Given the description of an element on the screen output the (x, y) to click on. 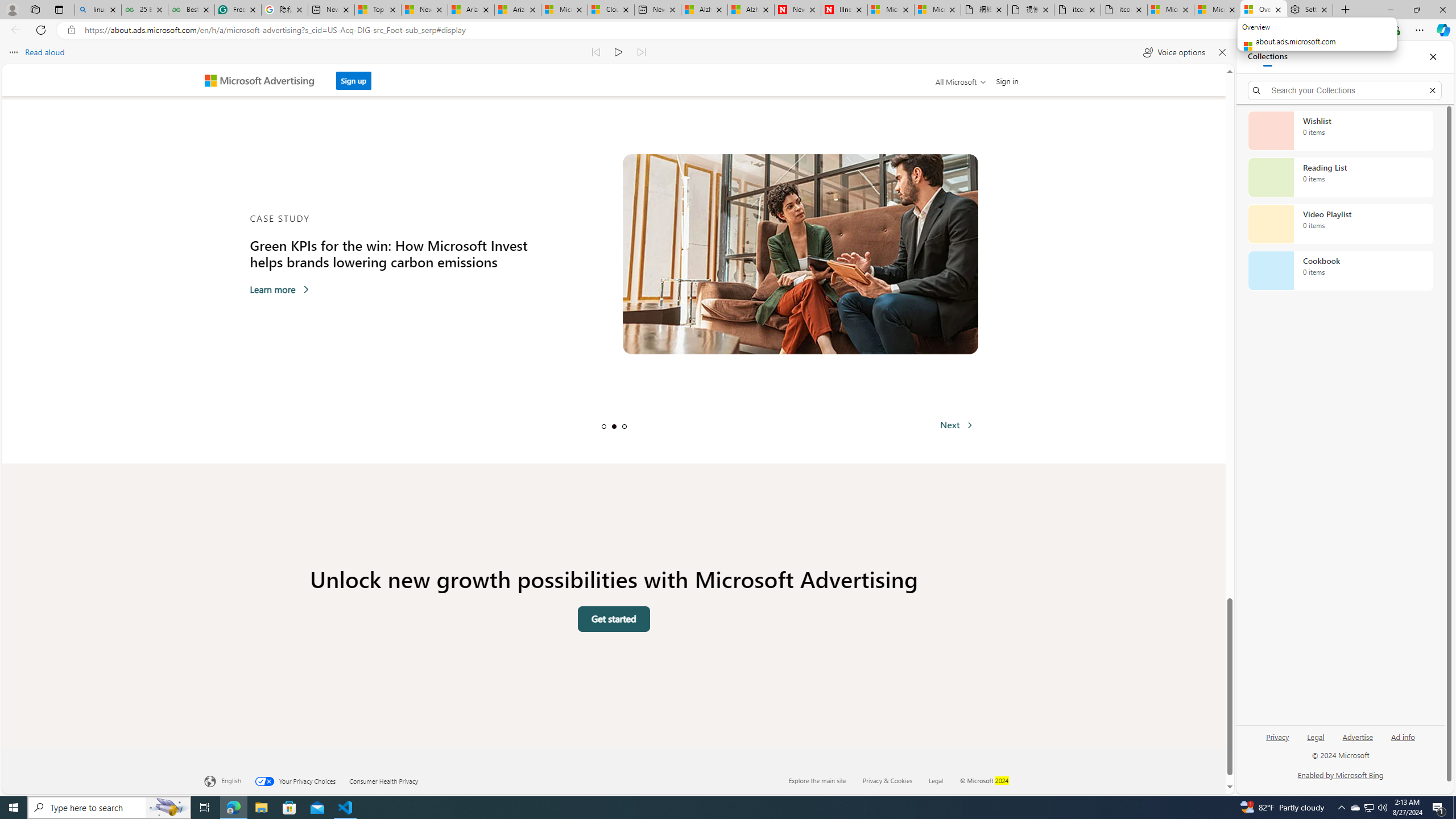
Top Stories - MSN (377, 9)
Slide 1 (603, 426)
Sign up (352, 81)
Sign up (353, 76)
Best SSL Certificates Provider in India - GeeksforGeeks (191, 9)
Illness news & latest pictures from Newsweek.com (844, 9)
Privacy & Cookies (895, 780)
Free AI Writing Assistance for Students | Grammarly (237, 9)
Voice options (1174, 52)
Slide 3 (624, 426)
itconcepthk.com/projector_solutions.mp4 (1123, 9)
